Given the description of an element on the screen output the (x, y) to click on. 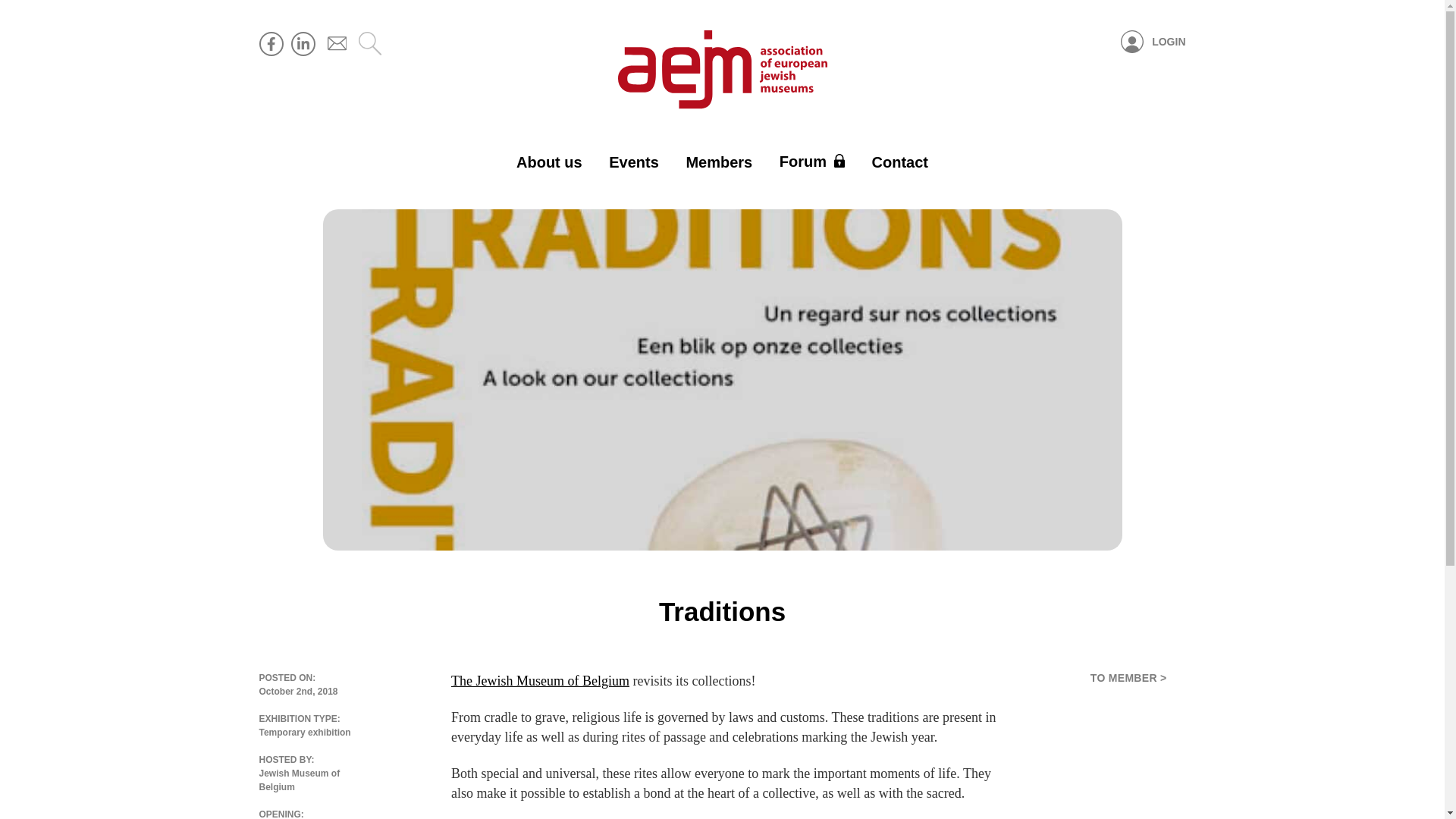
AEJM on Facebook (271, 43)
Events (633, 161)
AEJM newsletter (335, 39)
Search (369, 44)
Members (718, 161)
The Jewish Museum of Belgium (539, 680)
AEJM (722, 70)
About us (549, 161)
Contact (900, 161)
AEJM on LinkedIn (303, 43)
Forum (811, 161)
LOGIN (1153, 42)
TO MEMBER (1128, 677)
